Given the description of an element on the screen output the (x, y) to click on. 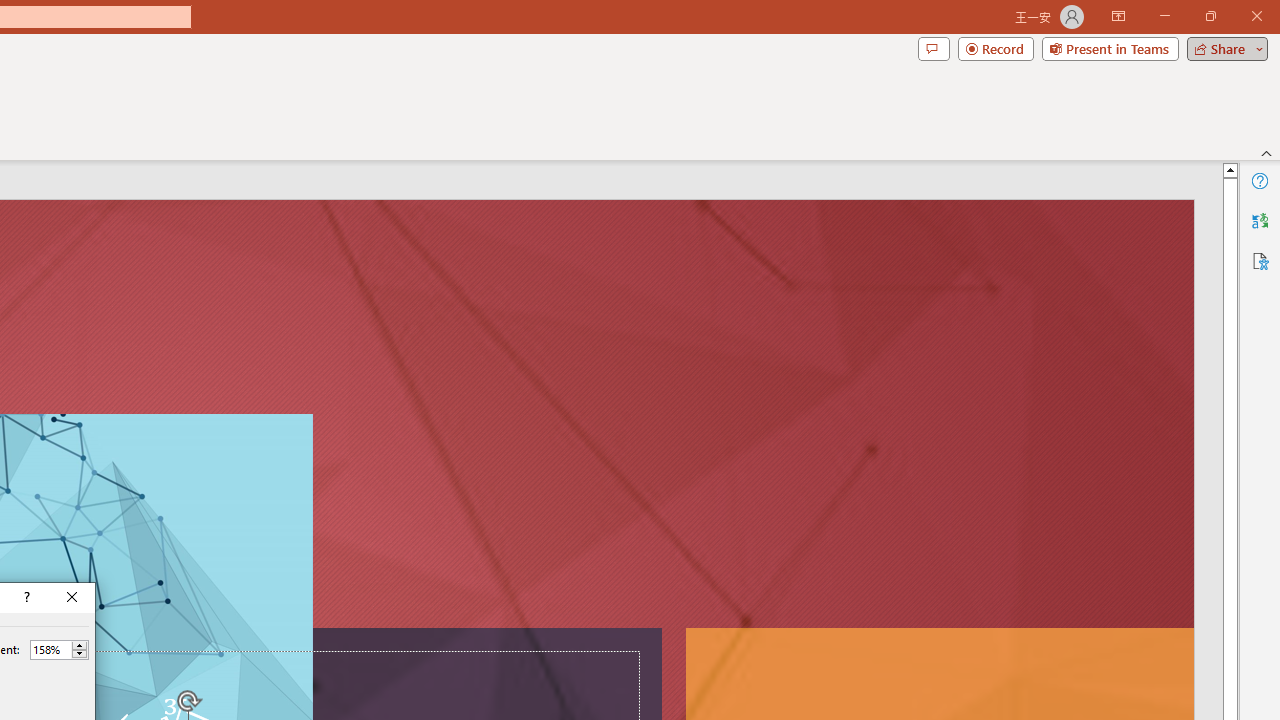
Context help (25, 597)
Line up (1230, 169)
